Given the description of an element on the screen output the (x, y) to click on. 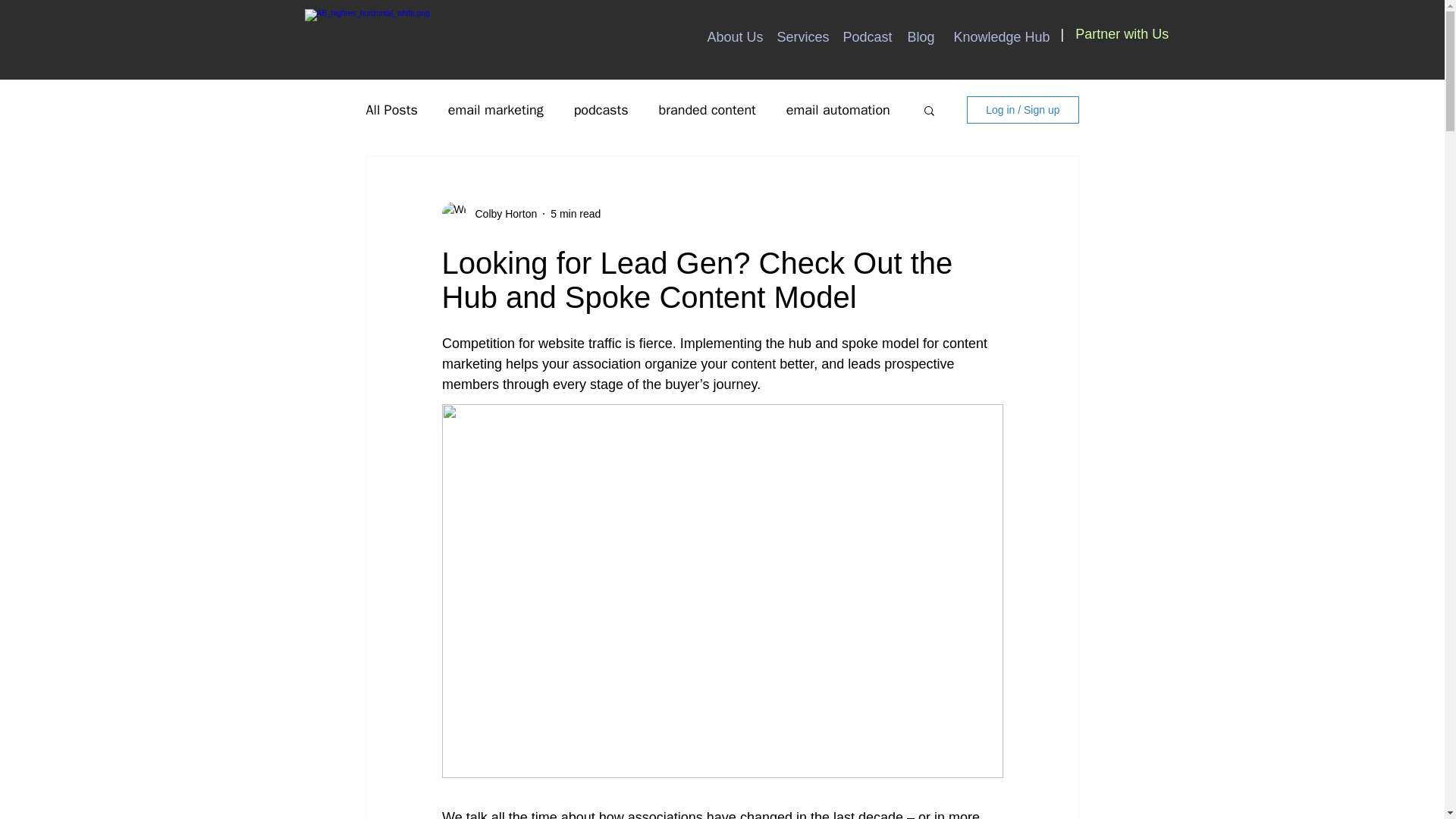
Blog (919, 35)
branded content (707, 109)
email marketing (495, 109)
Partner with Us (1122, 33)
About Us (730, 35)
Services (798, 35)
Knowledge Hub (994, 35)
podcasts (600, 109)
Colby Horton (501, 213)
email automation (837, 109)
5 min read (574, 214)
Podcast (863, 35)
All Posts (390, 109)
